Given the description of an element on the screen output the (x, y) to click on. 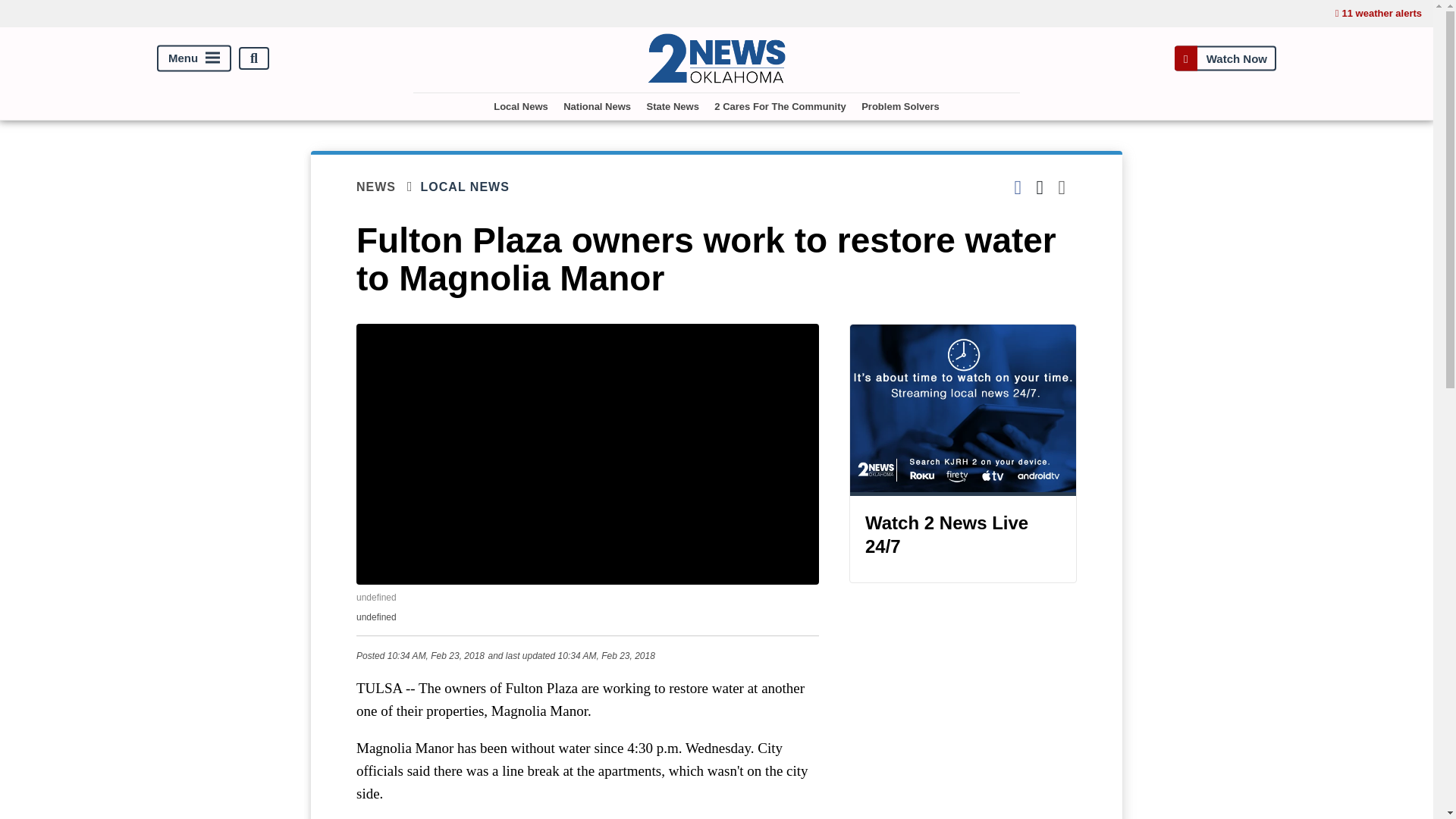
Menu (194, 58)
Watch Now (1224, 58)
